Given the description of an element on the screen output the (x, y) to click on. 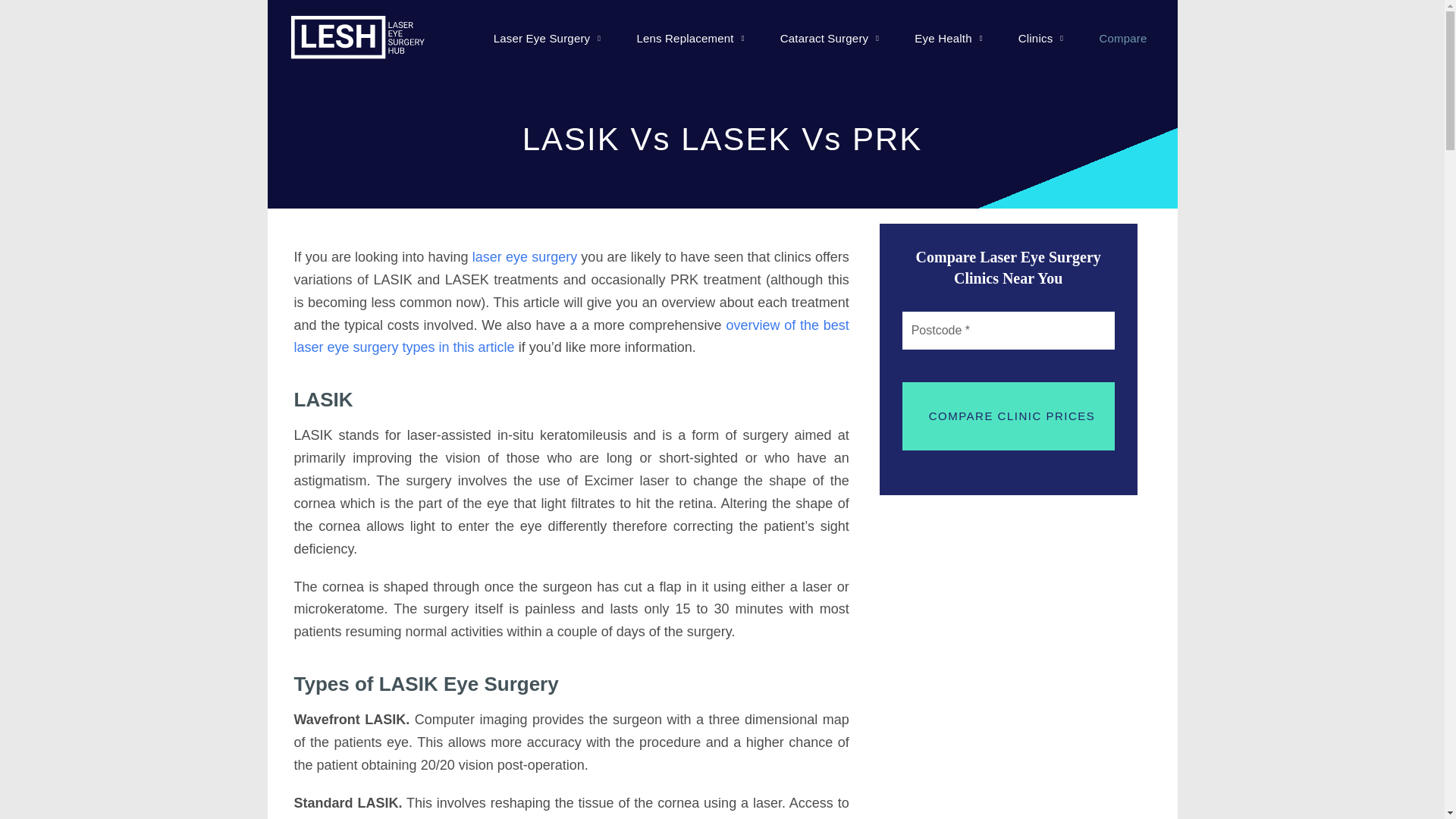
Laser Eye Surgery (547, 38)
Lens Replacement (689, 38)
Desktop White LASIK Vs LASEK Vs PRK (357, 39)
Cataract Surgery (830, 38)
